Given the description of an element on the screen output the (x, y) to click on. 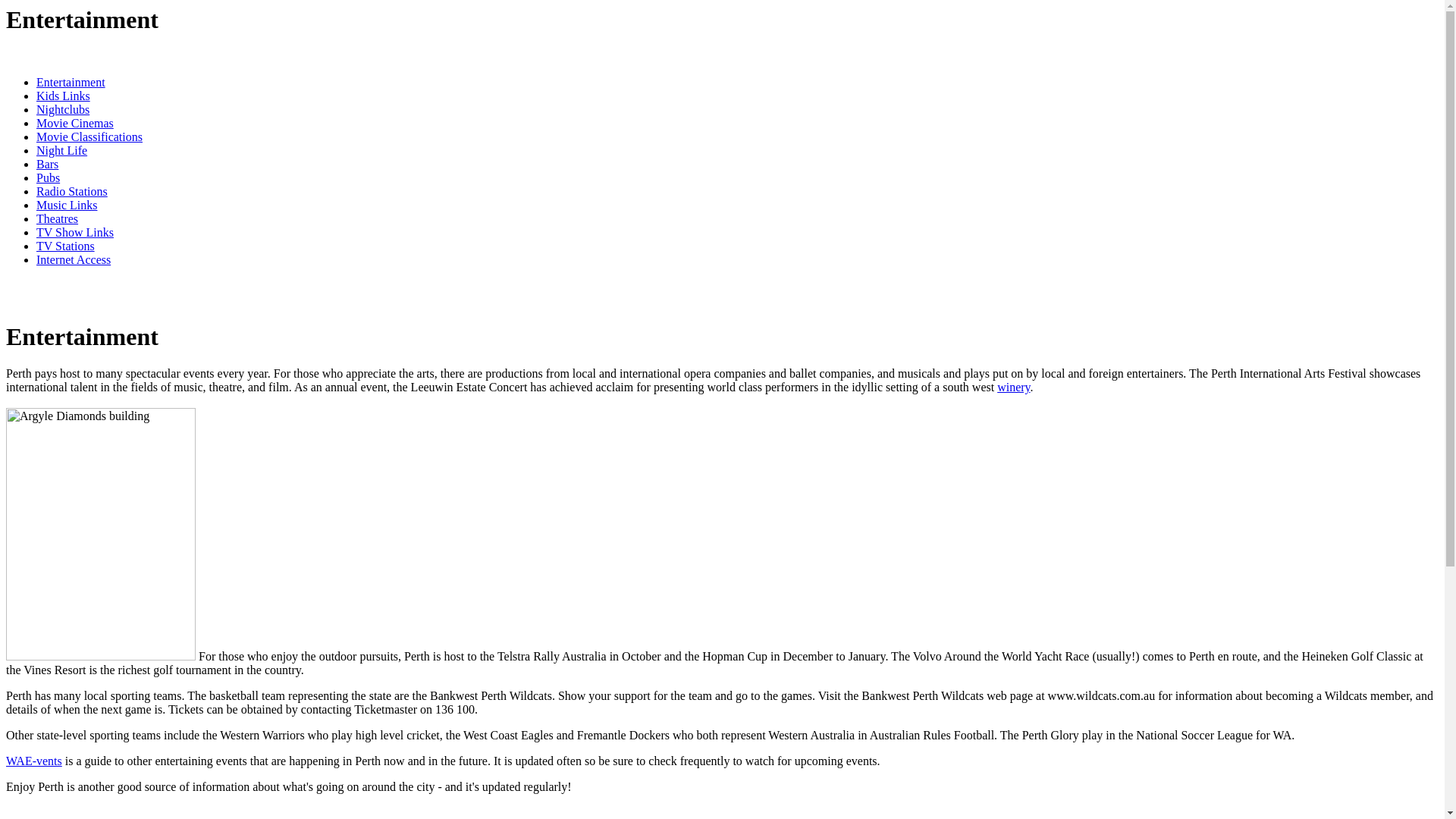
Theatres Element type: text (57, 218)
Movie Classifications Element type: text (89, 136)
TV Stations Element type: text (65, 245)
Entertainment Element type: text (70, 81)
Nightclubs Element type: text (62, 109)
WAE-vents Element type: text (34, 760)
Night Life Element type: text (61, 150)
Pubs Element type: text (47, 177)
Music Links Element type: text (66, 204)
Movie Cinemas Element type: text (74, 122)
winery Element type: text (1013, 386)
Radio Stations Element type: text (71, 191)
Internet Access Element type: text (73, 259)
Kids Links Element type: text (63, 95)
TV Show Links Element type: text (74, 231)
Bars Element type: text (47, 163)
